Given the description of an element on the screen output the (x, y) to click on. 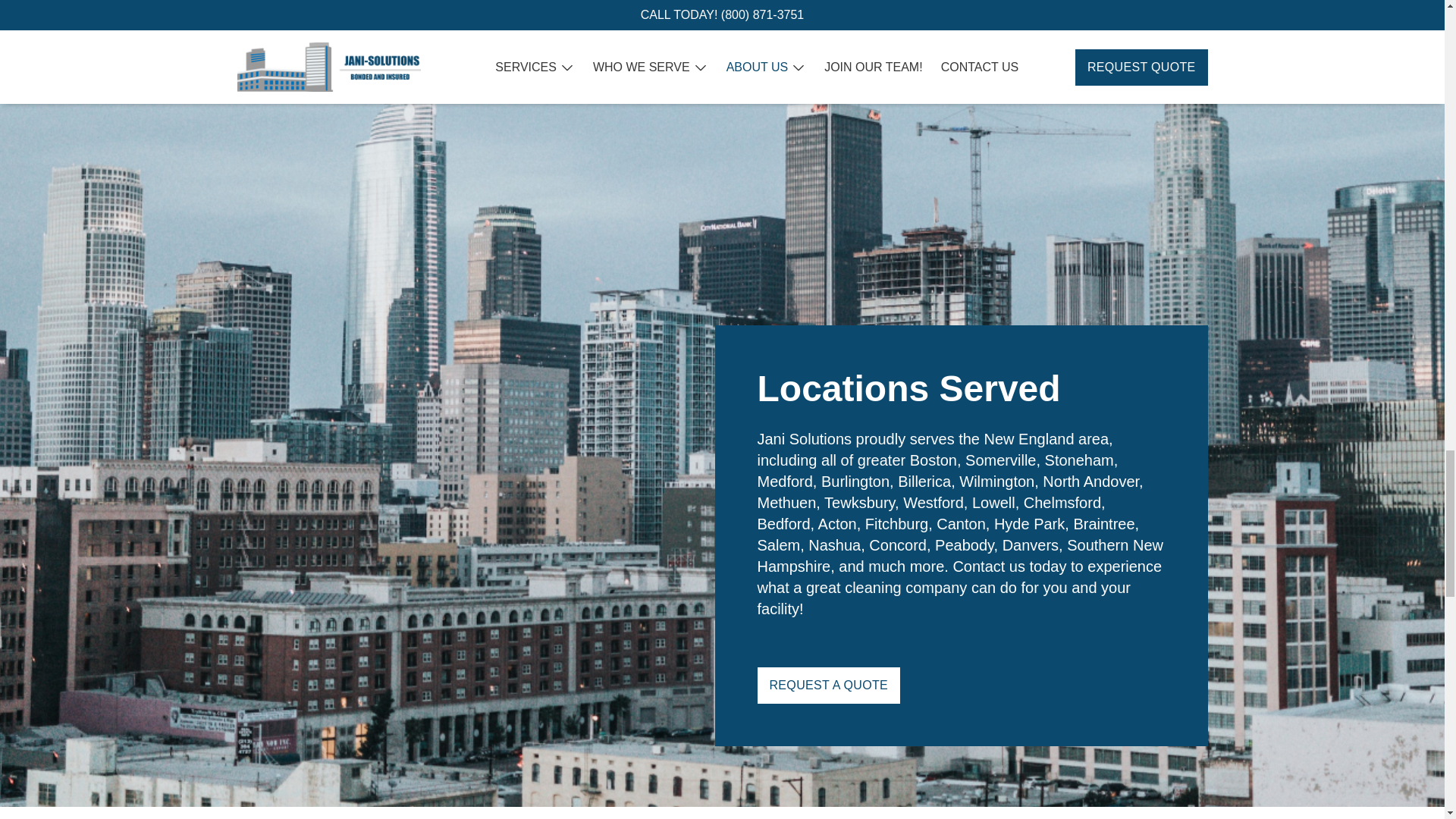
REQUEST A QUOTE (828, 685)
